Given the description of an element on the screen output the (x, y) to click on. 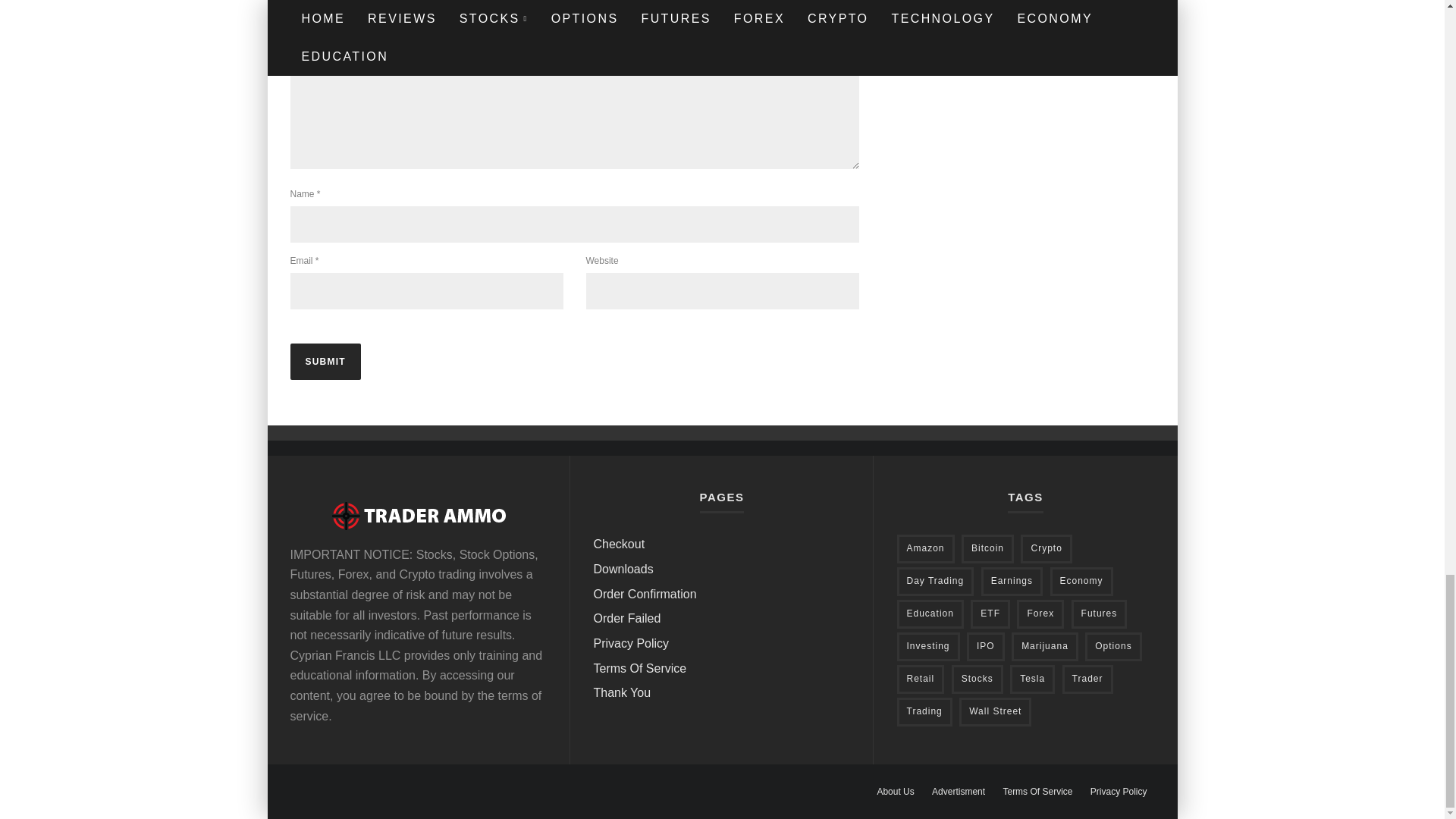
Submit (324, 361)
